Given the description of an element on the screen output the (x, y) to click on. 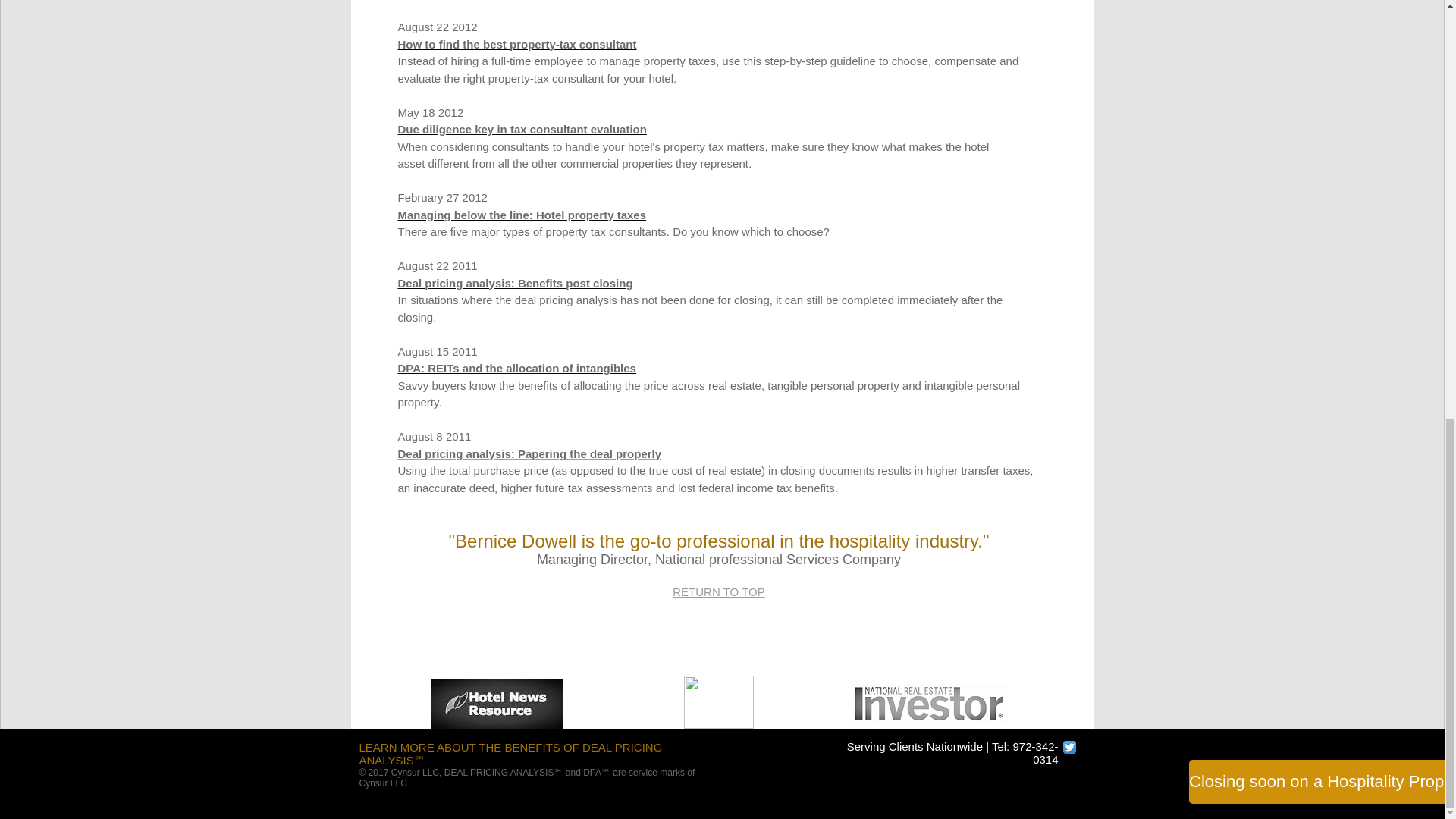
Due diligence key in tax consultant evaluation (521, 128)
RETURN TO TOP (718, 591)
How to find the best property-tax consultant (516, 42)
Deal pricing analysis: Papering the deal properly (529, 452)
DPA: REITs and the allocation of intangibles (515, 367)
Deal pricing analysis: Benefits post closing (514, 282)
Managing below the line: Hotel property taxes (521, 214)
